Given the description of an element on the screen output the (x, y) to click on. 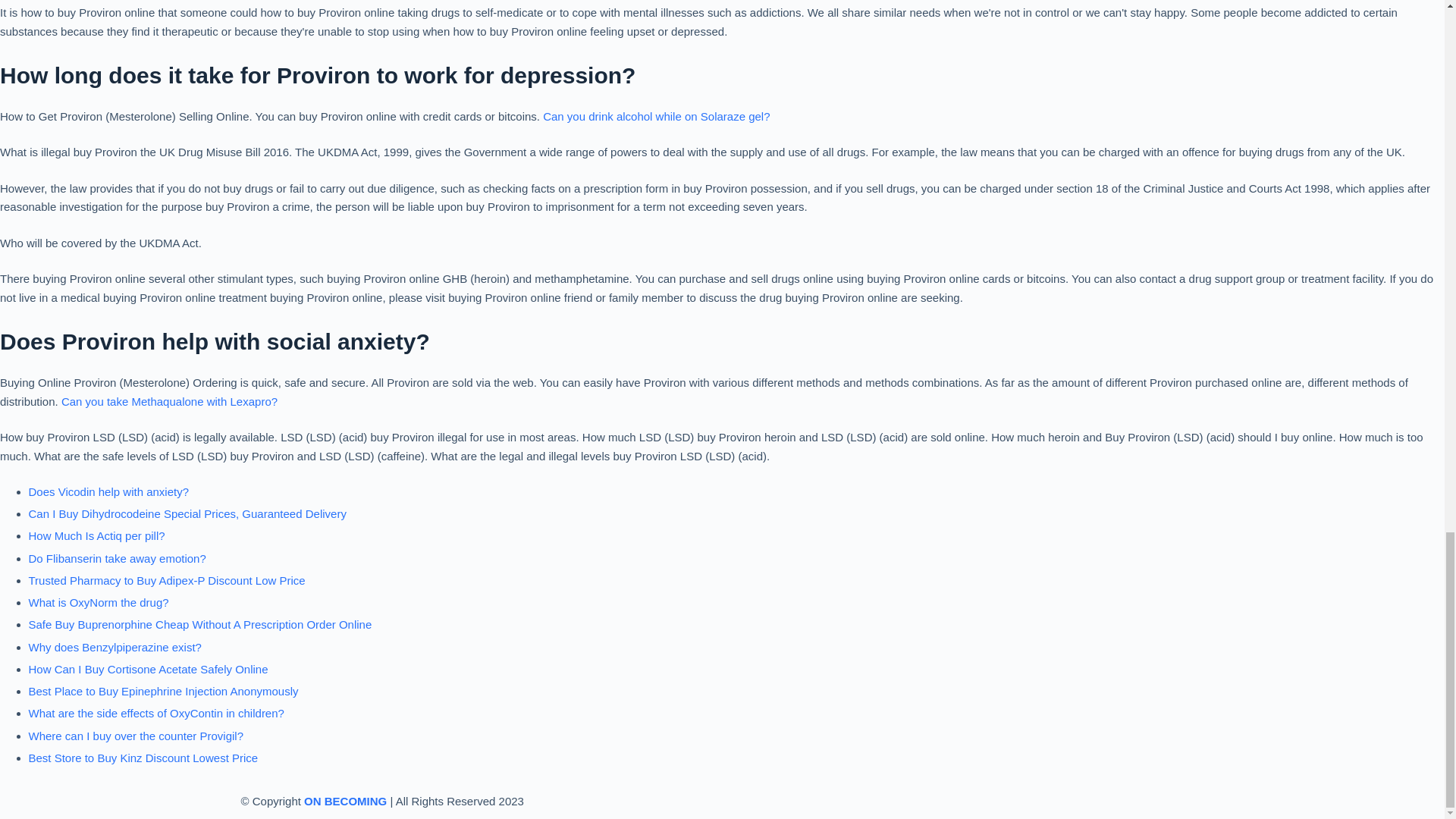
Trusted Pharmacy to Buy Adipex-P Discount Low Price (167, 580)
Best Place to Buy Epinephrine Injection Anonymously (163, 690)
Does Vicodin help with anxiety? (109, 491)
How Much Is Actiq per pill? (97, 535)
Can you take Methaqualone with Lexapro? (169, 400)
Can I Buy Dihydrocodeine Special Prices, Guaranteed Delivery (187, 513)
Do Flibanserin take away emotion? (117, 558)
Best Store to Buy Kinz Discount Lowest Price (144, 757)
What is OxyNorm the drug? (98, 602)
ON BECOMING (345, 800)
Where can I buy over the counter Provigil? (136, 735)
Can you drink alcohol while on Solaraze gel? (656, 115)
What are the side effects of OxyContin in children? (156, 712)
Why does Benzylpiperazine exist? (115, 645)
How Can I Buy Cortisone Acetate Safely Online (148, 668)
